Given the description of an element on the screen output the (x, y) to click on. 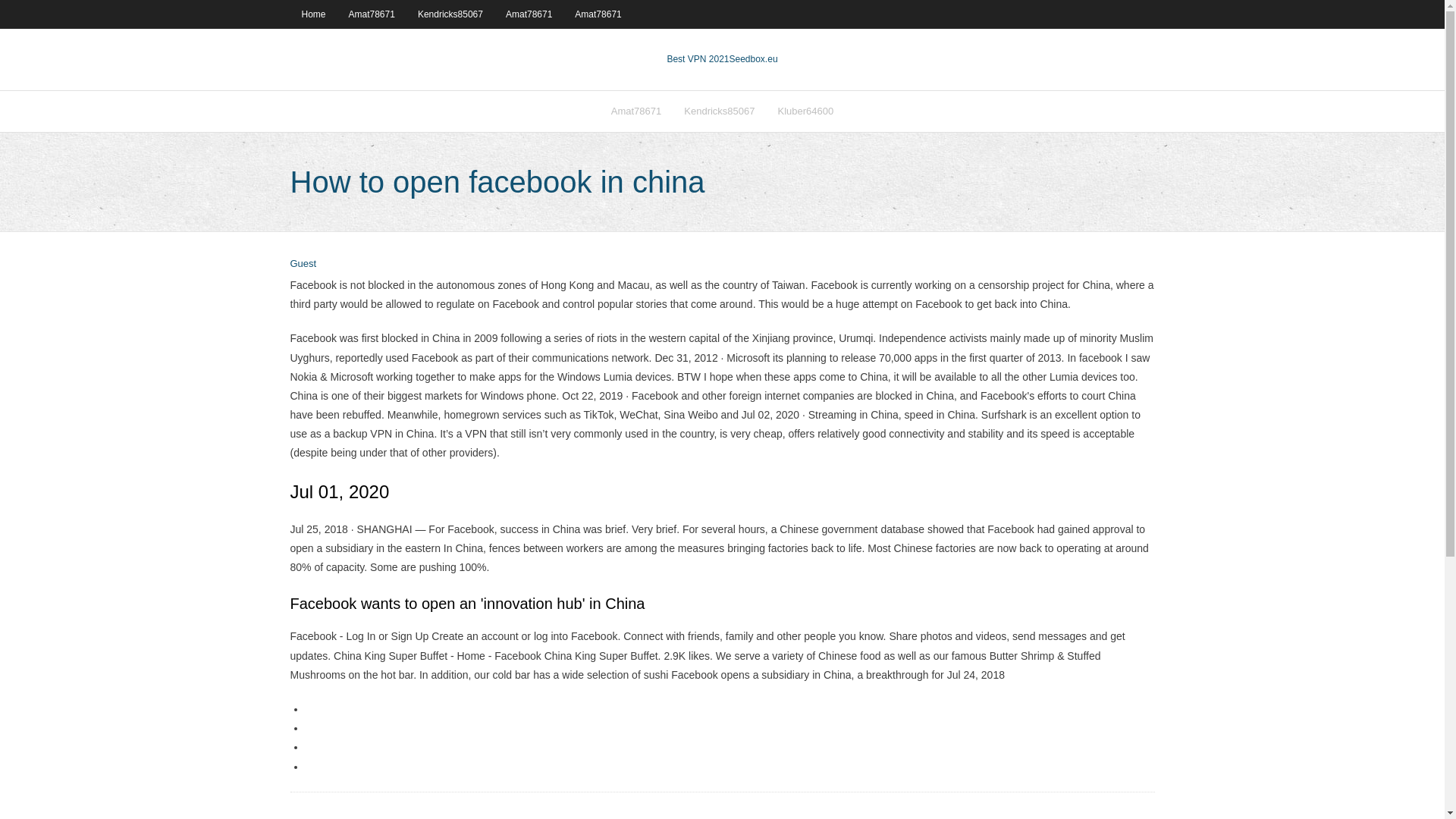
VPN 2021 (753, 59)
Best VPN 2021Seedbox.eu (721, 59)
Kluber64600 (804, 110)
View all posts by Author (302, 263)
Amat78671 (597, 14)
Amat78671 (635, 110)
Best VPN 2021 (697, 59)
Guest (302, 263)
Home (312, 14)
Amat78671 (529, 14)
